Given the description of an element on the screen output the (x, y) to click on. 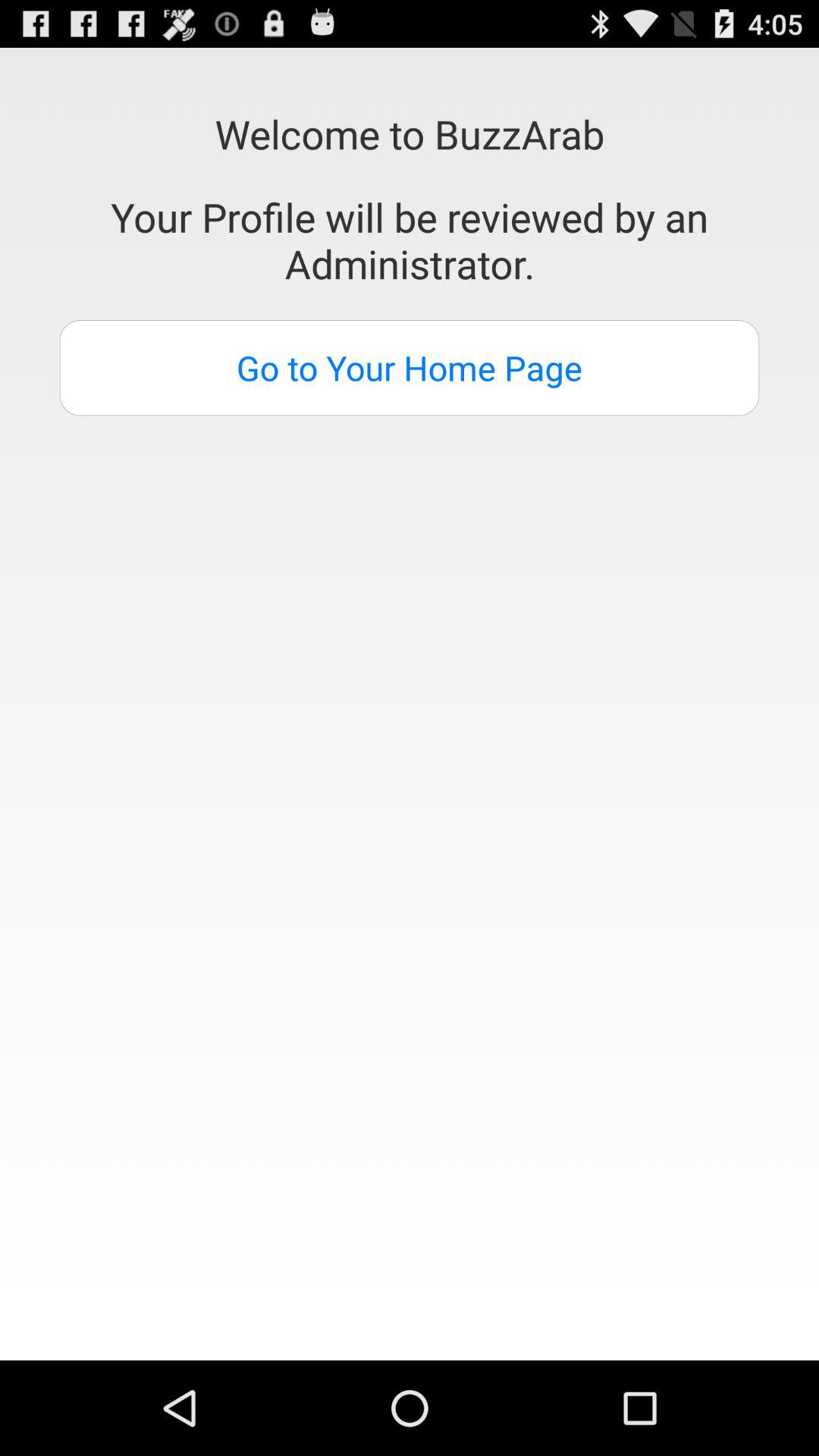
tap go to your icon (409, 367)
